Given the description of an element on the screen output the (x, y) to click on. 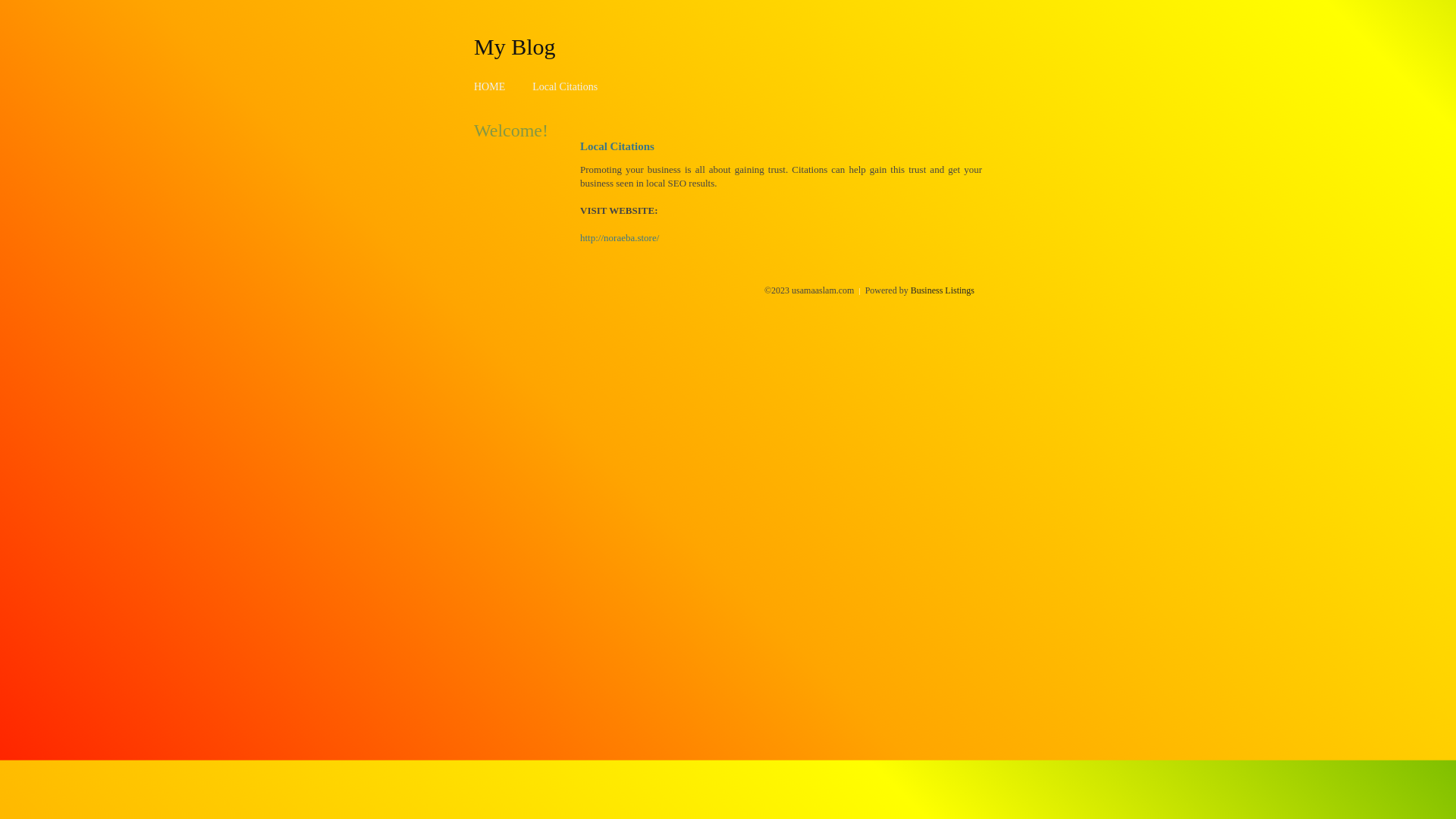
Business Listings Element type: text (942, 290)
Local Citations Element type: text (564, 86)
HOME Element type: text (489, 86)
http://noraeba.store/ Element type: text (619, 237)
My Blog Element type: text (514, 46)
